Given the description of an element on the screen output the (x, y) to click on. 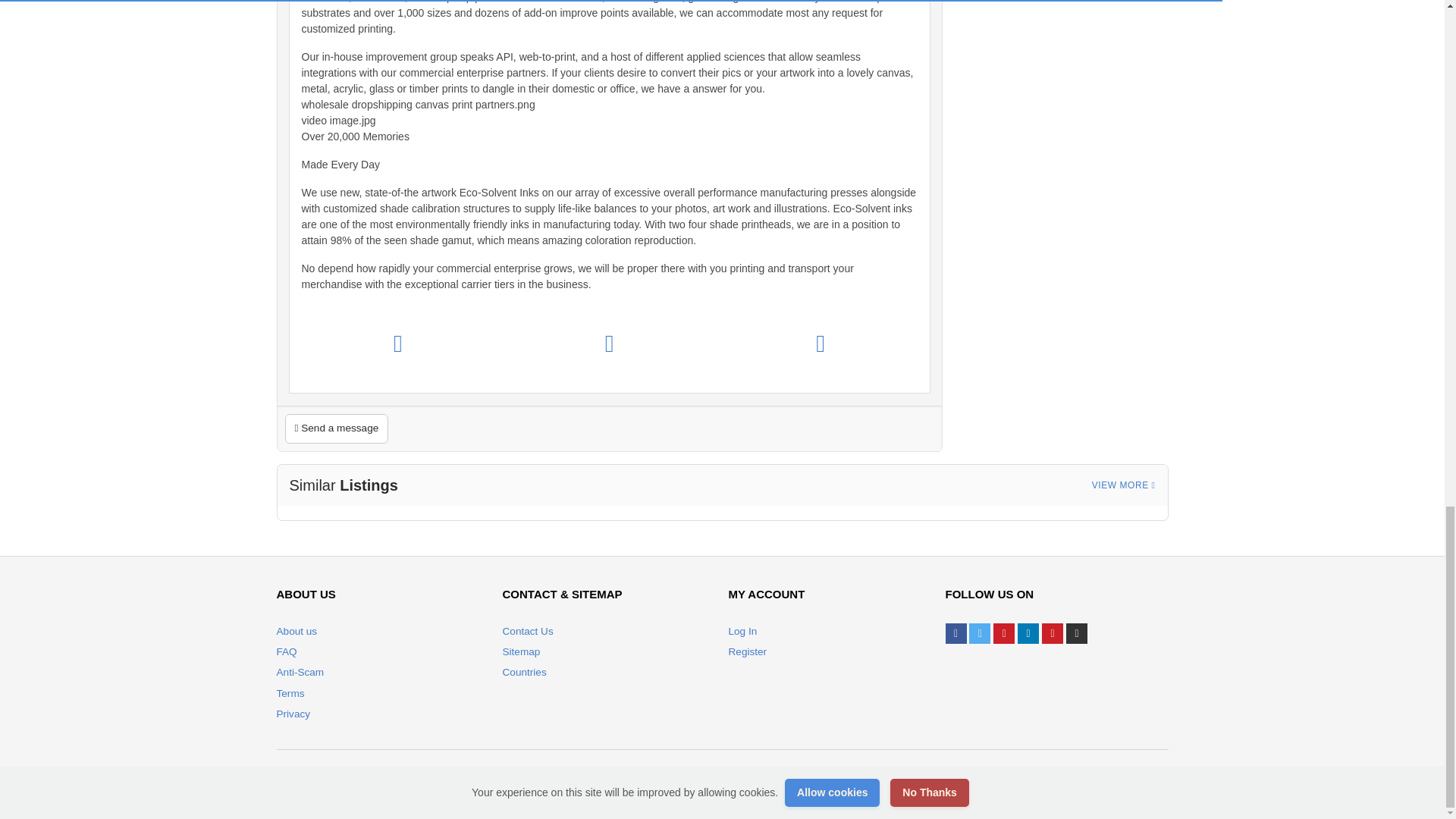
Pinterest (1052, 633)
Send a message (336, 428)
Twitter (979, 633)
VIEW MORE (1123, 485)
Tiktok (1076, 633)
Instagram (1003, 633)
LinkedIn (1028, 633)
About us (296, 631)
Facebook (955, 633)
FAQ (286, 651)
